Given the description of an element on the screen output the (x, y) to click on. 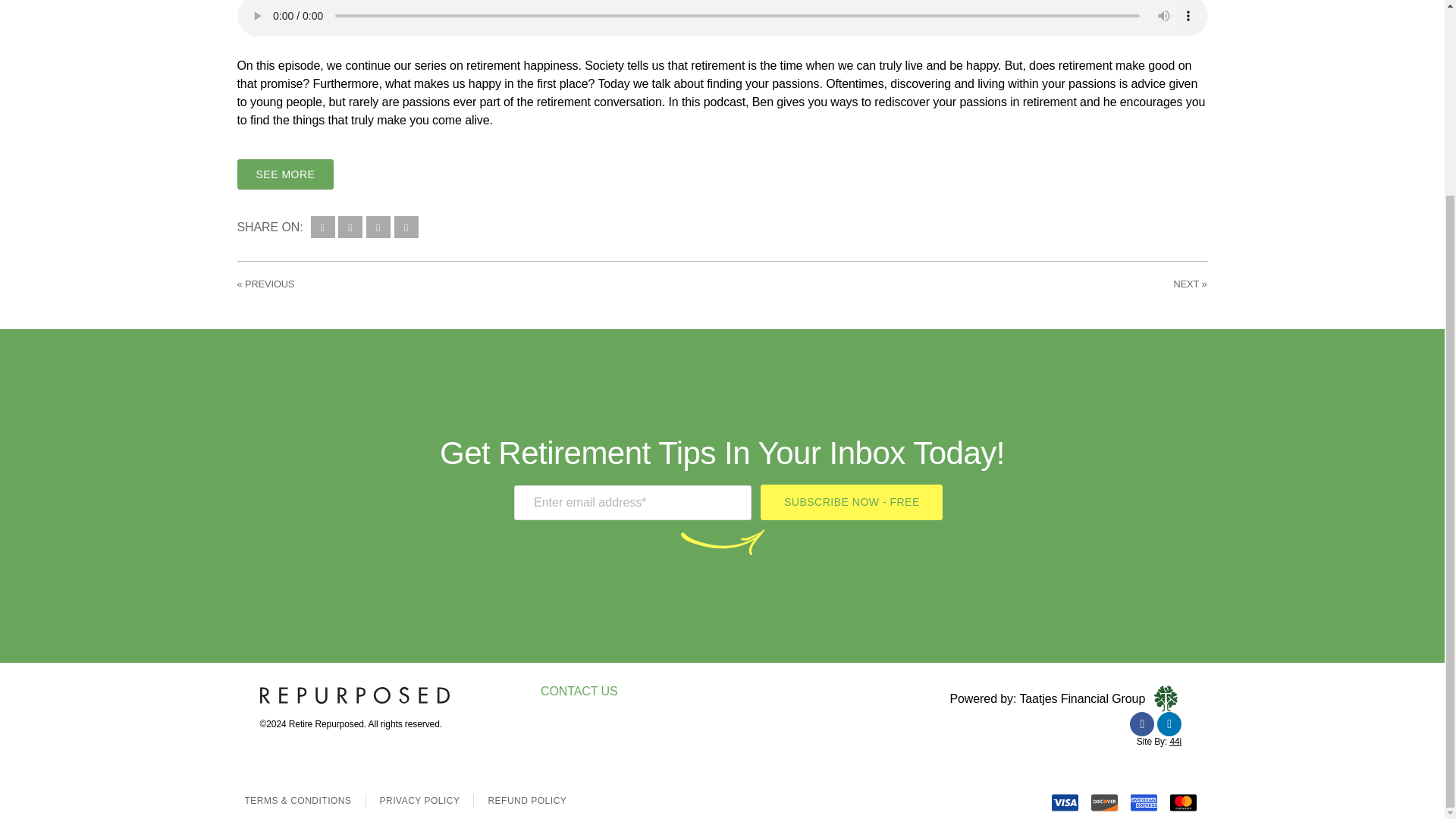
Subscribe Now - Free (851, 502)
PRIVACY POLICY (420, 800)
REFUND POLICY (526, 800)
Subscribe Now - Free (851, 502)
Powered by: Taatjes Financial Group (1046, 698)
CONTACT US (578, 690)
SEE MORE (284, 173)
44i (1174, 741)
